Given the description of an element on the screen output the (x, y) to click on. 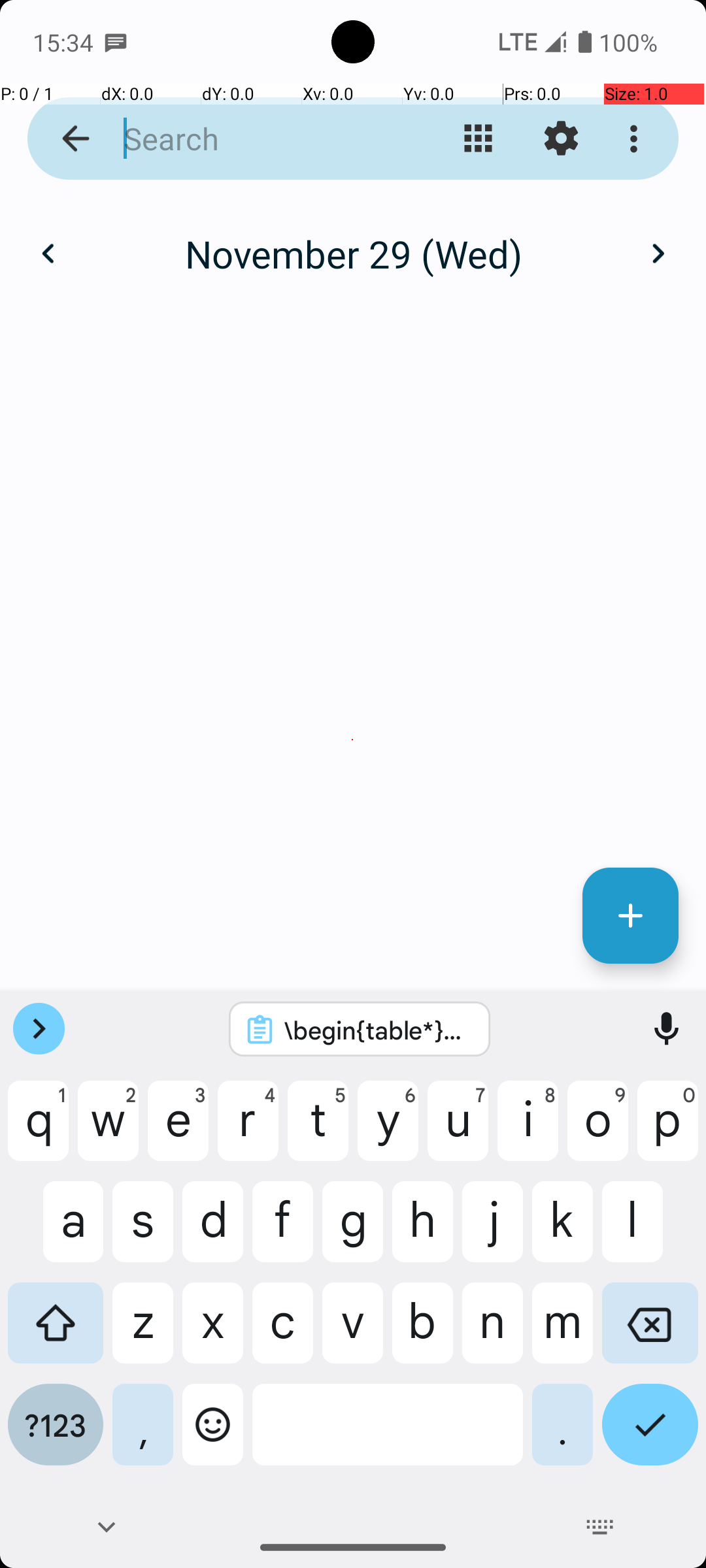
December Element type: android.widget.TextView (352, 239)
November 29 (Wed) Element type: android.widget.TextView (352, 253)
\begin{table*}[t!] \centering \renewcommand\arraystretch{1.1} \tabcolsep=0.05cm {\fontsize{10pt}{12pt}\selectfont \begin{tabular}{cccccccccc} \hline % \toprule          \multirow{2}{*}{LVLMs} & \multirow{2}{*}{\parbox{1.5cm}{\centering Model\\Size}}   & \multirow{2}{*}{\parbox{1.5cm}{\centering GUI\\Specific}} & \multicolumn{2}{c}{Mobile}        & \multicolumn{2}{c}{Desktop}       & \multicolumn{2}{c}{Web}           & \multirow{2}{*}{Average} \\ \cline{4-9}          &    &                               & Text            & Icon/Widget     & Text            & Icon/Widget     & Text            & Icon/Widget     &                          \\  % \midrule \hline MiniGPT-v2     & 7B   & \textcolor{darkred}{\ding{55}}                              &  8.4\%               & 6.6\%                & 6.2\%                & 2.9\%                & 6.5\%                & 3.4\%                & 5.7\%                         \\ Qwen-VL  & 9.6B   & \textcolor{darkred}{\ding{55}}                             & 9.5\%           & 4.8\%           & 5.7\%           & 5.0\%           & 3.5\%           & 2.4\%           & 5.2\%                    \\  GPT-4V   & -    & \textcolor{darkred}{\ding{55}}     & 22.6\%    & 24.5\%    & 20.2\%    & 11.8\%    &9.2\%  & 8.8\%     & 16.2\% \\ \hline Fuyu     & 8B   & \textcolor{darkgreen}{\ding{51}}                               & 41.0\%          & 1.3\%           & 33.0\%          & 3.6\%           & 33.9\%          & 4.4\%           & 19.5\%                   \\ CogAgent & 18B   & \textcolor{darkgreen}{\ding{51}}                               & 67.0\%          & 24.0\%          & \textbf{74.2\%} & 20.0\%          & \textbf{70.4\%} & 28.6\% & 47.4\%                   \\ \seek & 9.6B   & \textcolor{darkgreen}{\ding{51}}                              & \textbf{78.0\%} & \textbf{52.0\%} & 72.2\%          & \textbf{30.0\%} & 55.7\%          & \textbf{32.5\%} & \textbf{53.4\%}          \\  \hline % \bottomrule \end{tabular} } \caption{Results of different LVLMs on \seesp. The best results in each column are highlighted in \textbf{bold}. Benefiting from efficient GUI grounding pre-training, \seek significantly enhanced LVLMs' ability to locate GUI elements following instructions, and surpassed the strong baseline CogAgent with a smaller model size.} \label{tab:screenspot} \vspace{-1.0em} \end{table*} Element type: android.widget.TextView (376, 1029)
